Given the description of an element on the screen output the (x, y) to click on. 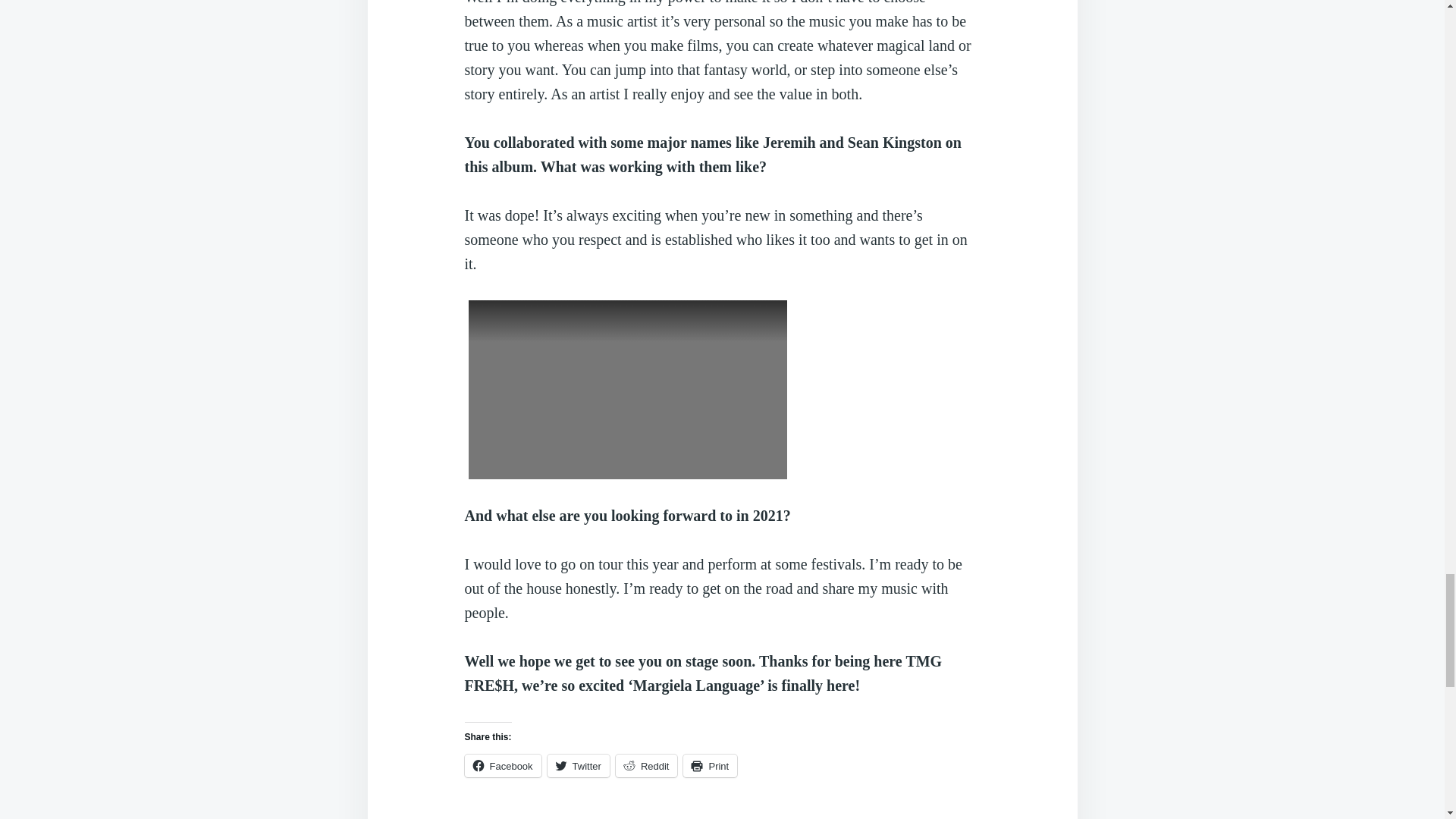
Twitter (578, 765)
Facebook (502, 765)
Print (709, 765)
Click to share on Twitter (578, 765)
Reddit (646, 765)
Click to print (709, 765)
Click to share on Facebook (502, 765)
Click to share on Reddit (646, 765)
